Given the description of an element on the screen output the (x, y) to click on. 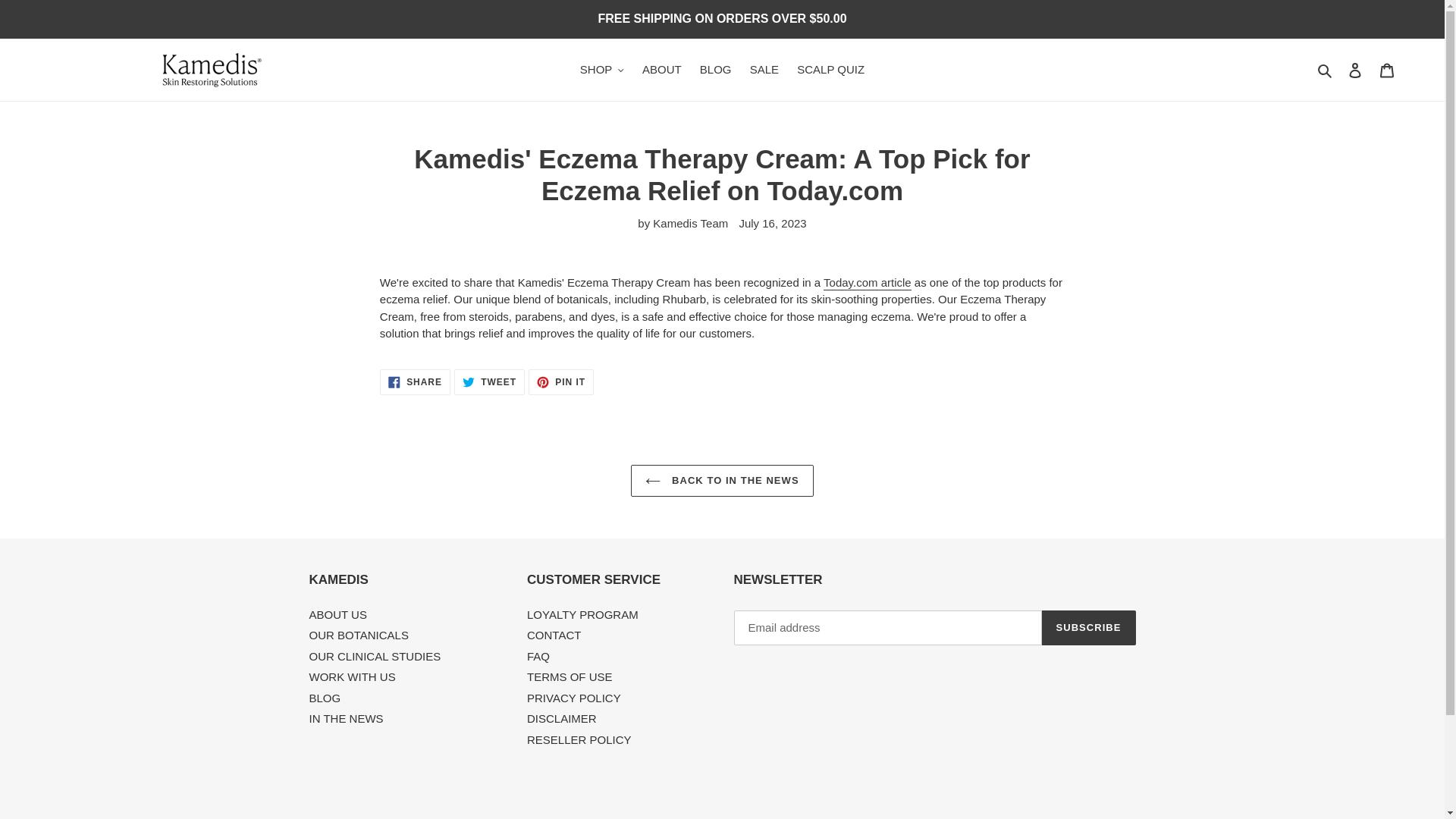
Cart (1387, 70)
BLOG (561, 380)
WORK WITH US (716, 69)
OUR BOTANICALS (489, 380)
Today.com article (352, 676)
BLOG (358, 634)
SALE (867, 283)
